Given the description of an element on the screen output the (x, y) to click on. 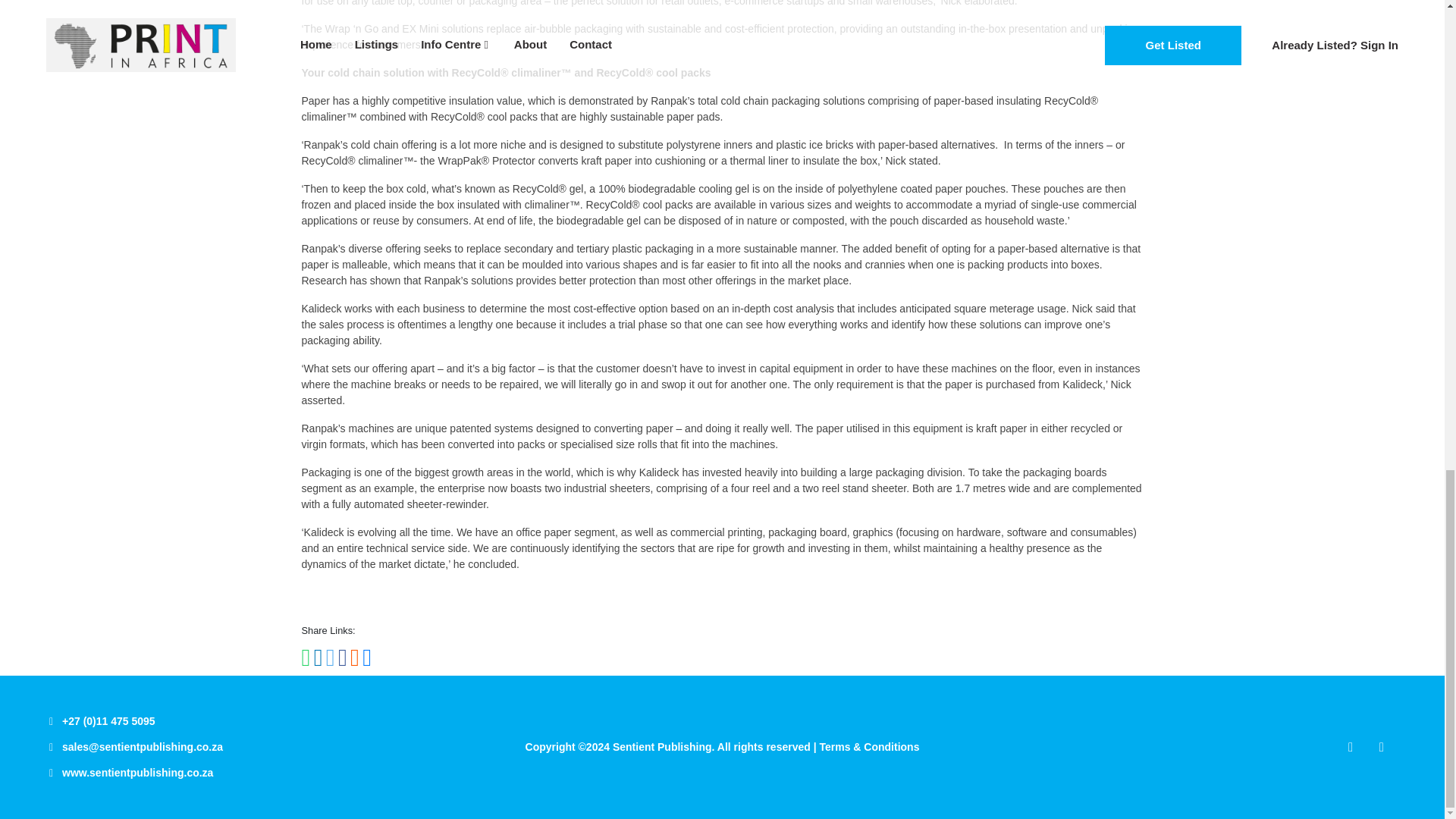
www.sentientpublishing.co.za (137, 772)
